Given the description of an element on the screen output the (x, y) to click on. 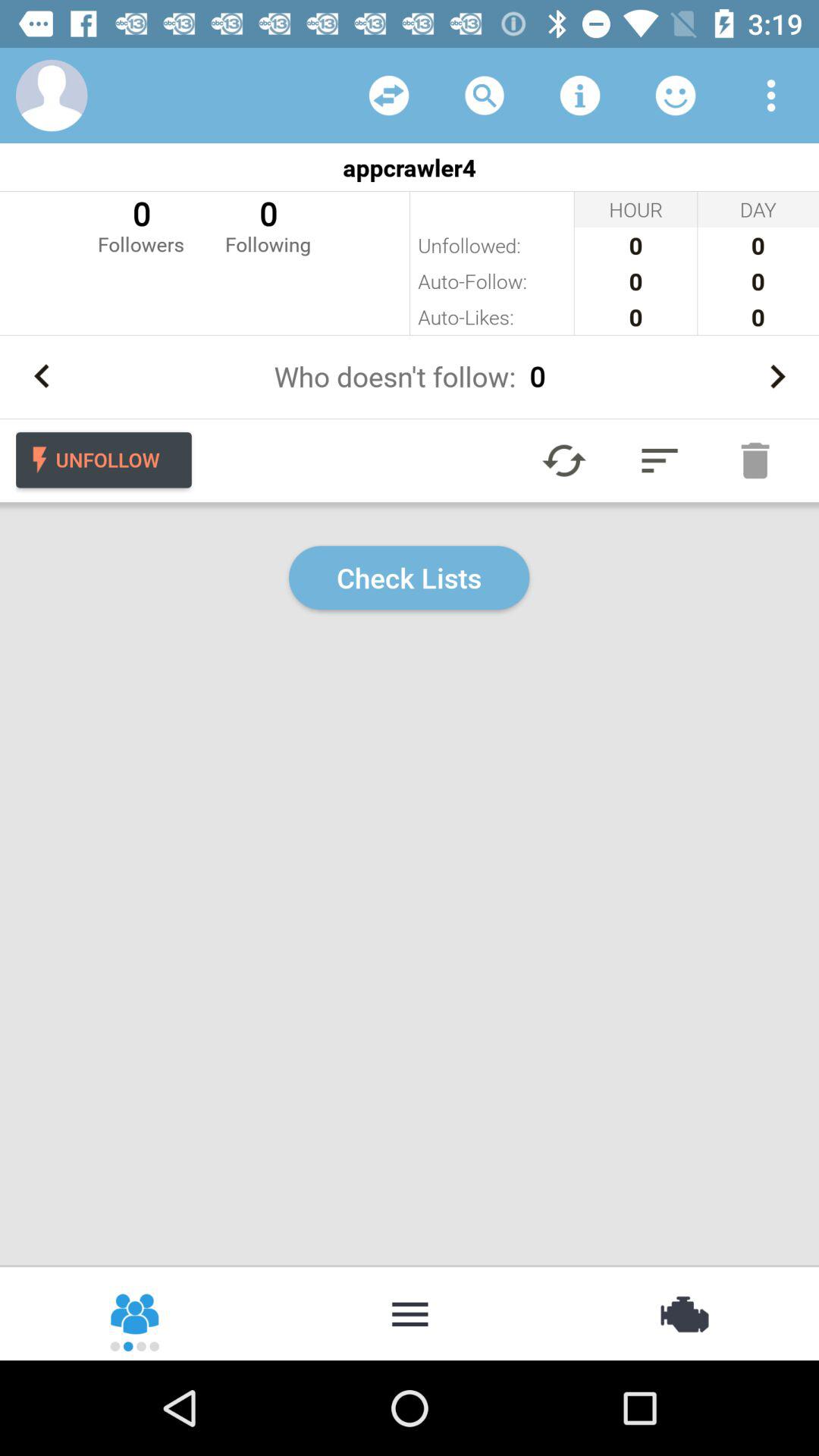
shows more numbers about followers (777, 376)
